Given the description of an element on the screen output the (x, y) to click on. 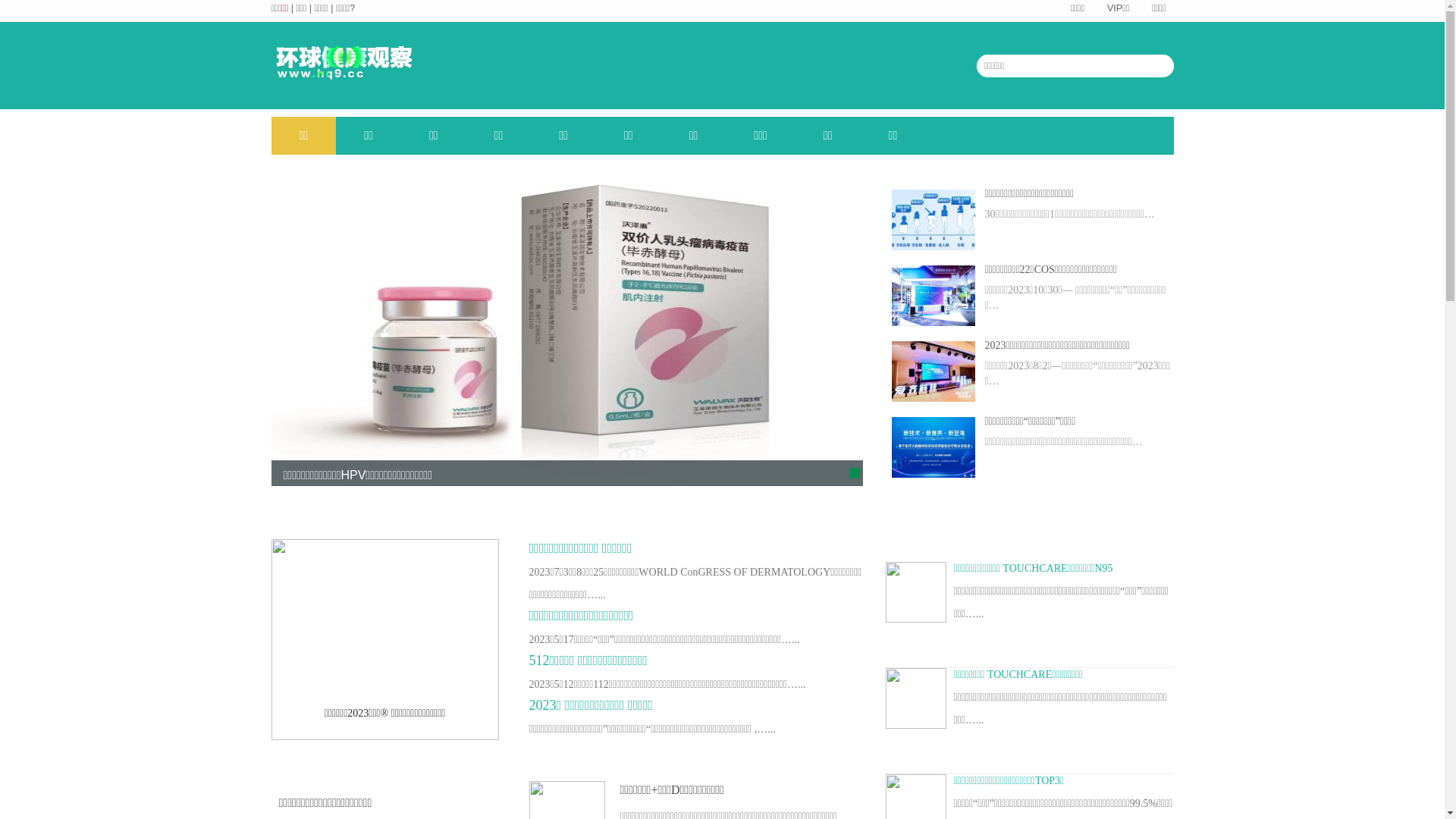
  Element type: text (1379, 721)
